Given the description of an element on the screen output the (x, y) to click on. 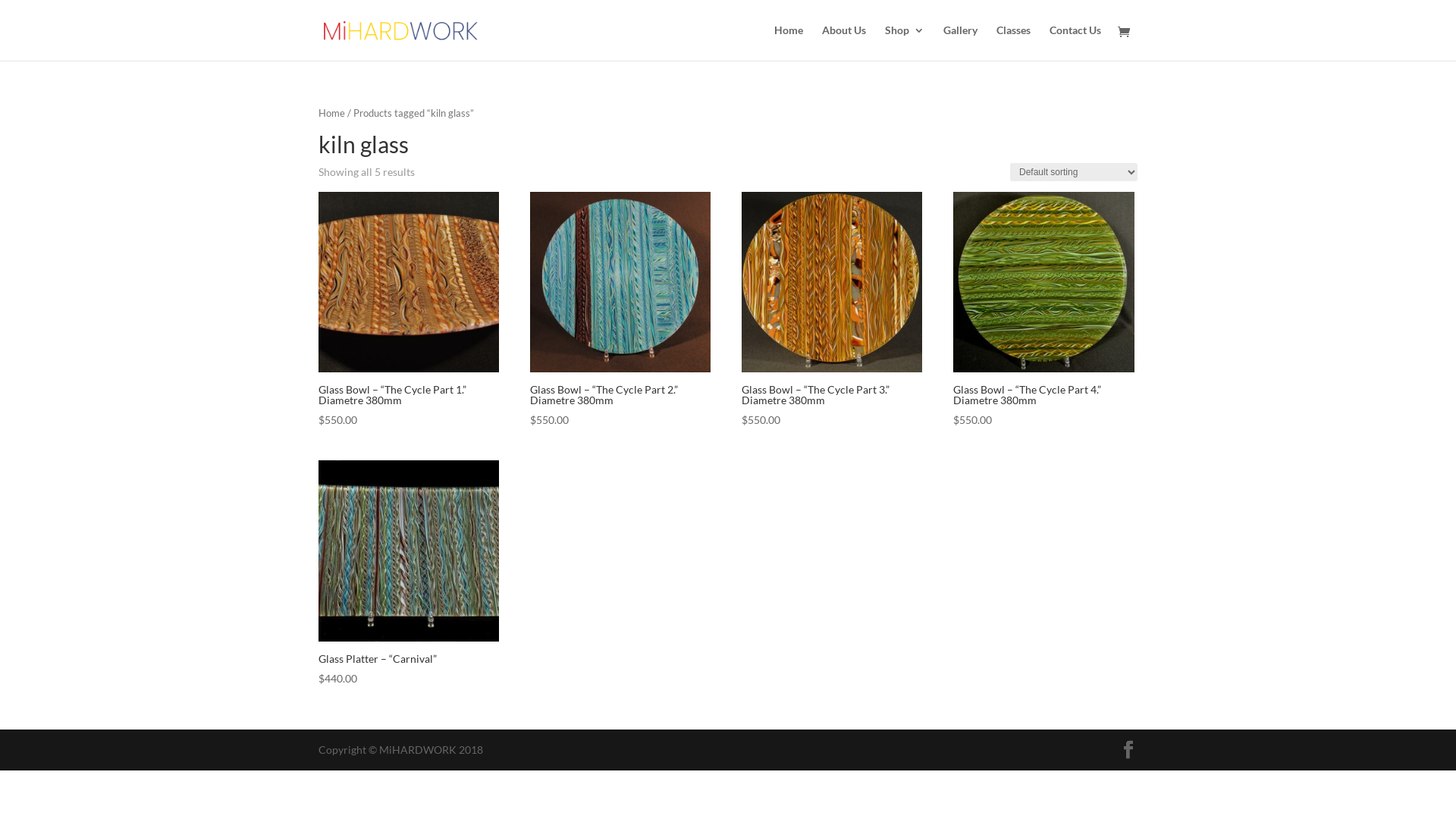
Contact Us Element type: text (1075, 42)
Shop Element type: text (904, 42)
Home Element type: text (788, 42)
Classes Element type: text (1013, 42)
Gallery Element type: text (960, 42)
Home Element type: text (331, 112)
About Us Element type: text (844, 42)
